Given the description of an element on the screen output the (x, y) to click on. 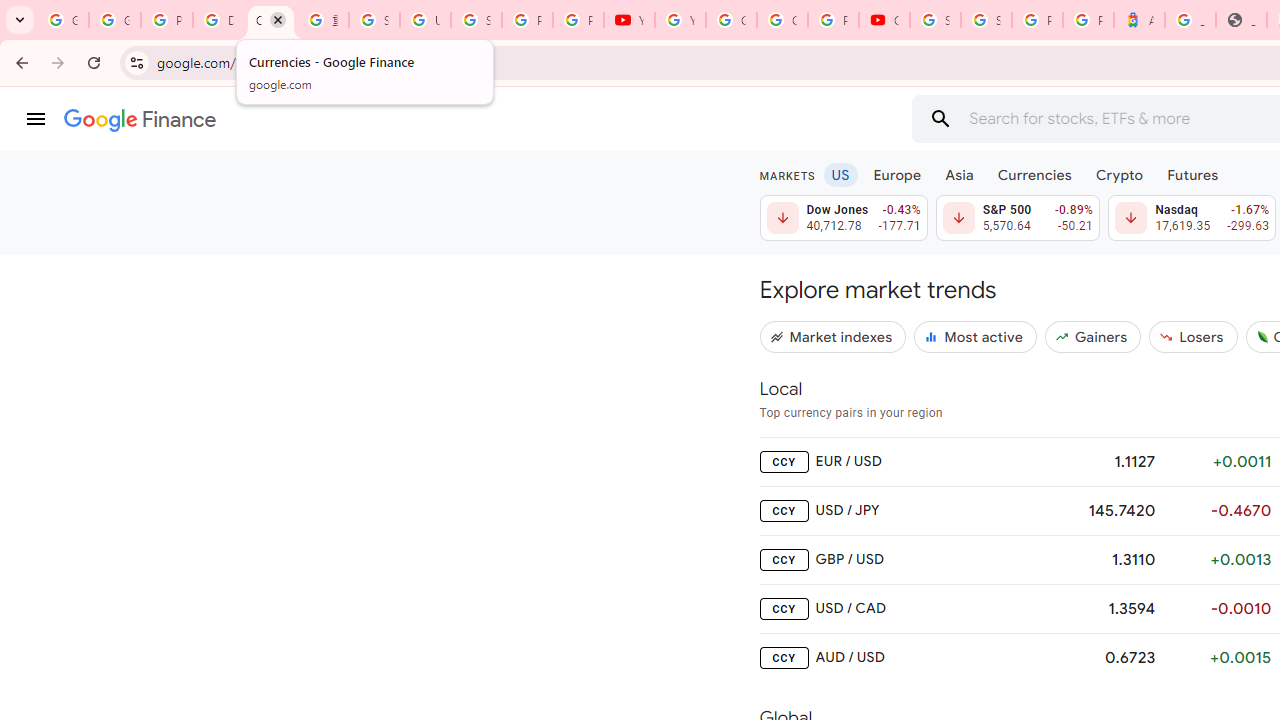
Futures (1192, 174)
Google Account Help (731, 20)
Market indexes (833, 336)
Create your Google Account (781, 20)
Most active (975, 336)
US (840, 174)
Currencies (1034, 174)
GLeaf logo (1261, 336)
Search (939, 118)
